Given the description of an element on the screen output the (x, y) to click on. 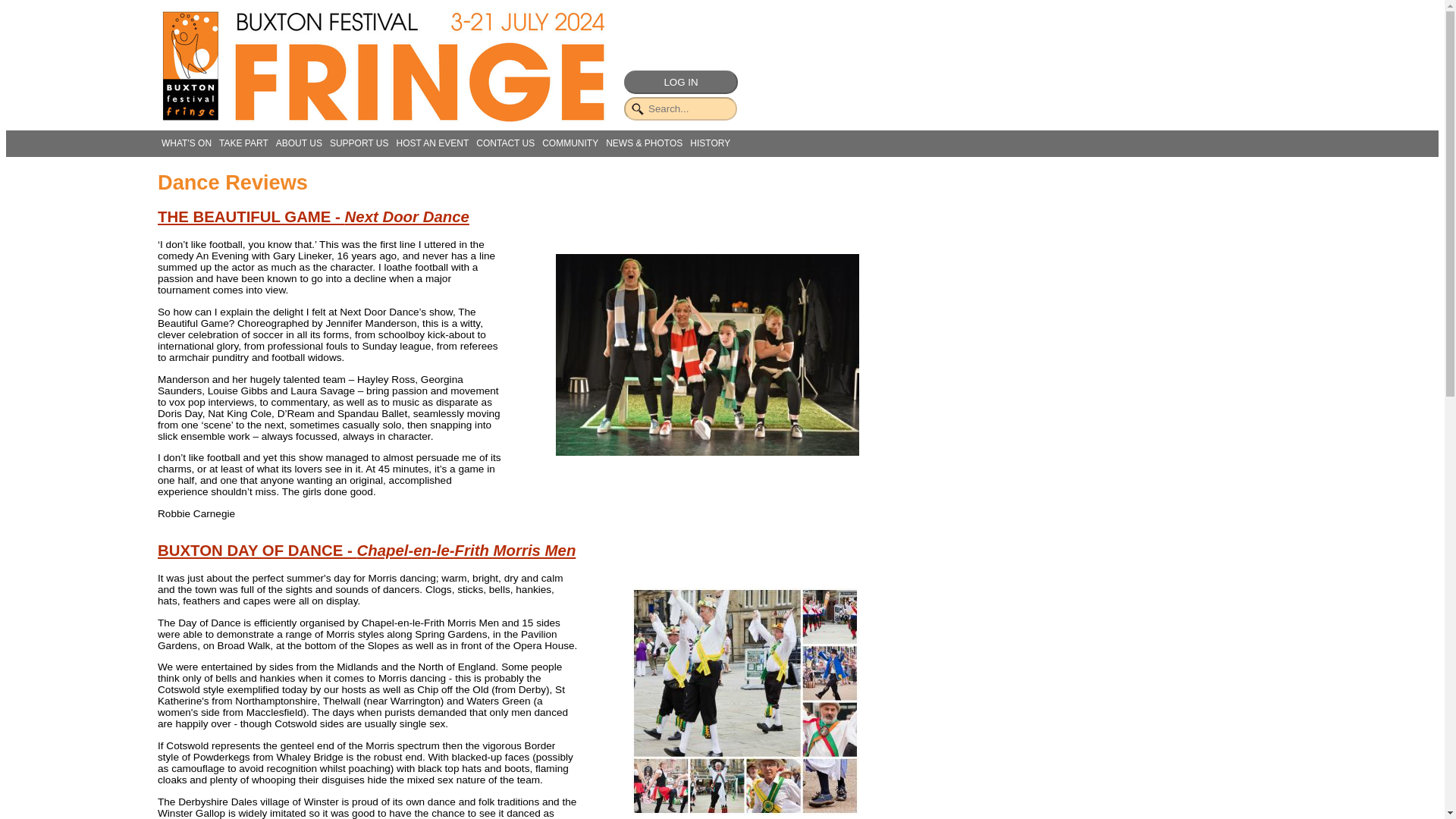
SUPPORT US (359, 143)
BUXTON DAY OF DANCE - Chapel-en-le-Frith Morris Men (366, 550)
ABOUT US (299, 143)
COMMUNITY (570, 143)
LOG IN (681, 82)
THE BEAUTIFUL GAME - Next Door Dance (312, 216)
TAKE PART (243, 143)
HISTORY (709, 143)
HOST AN EVENT (431, 143)
WHAT'S ON (186, 143)
LOG IN (681, 82)
CONTACT US (504, 143)
